Given the description of an element on the screen output the (x, y) to click on. 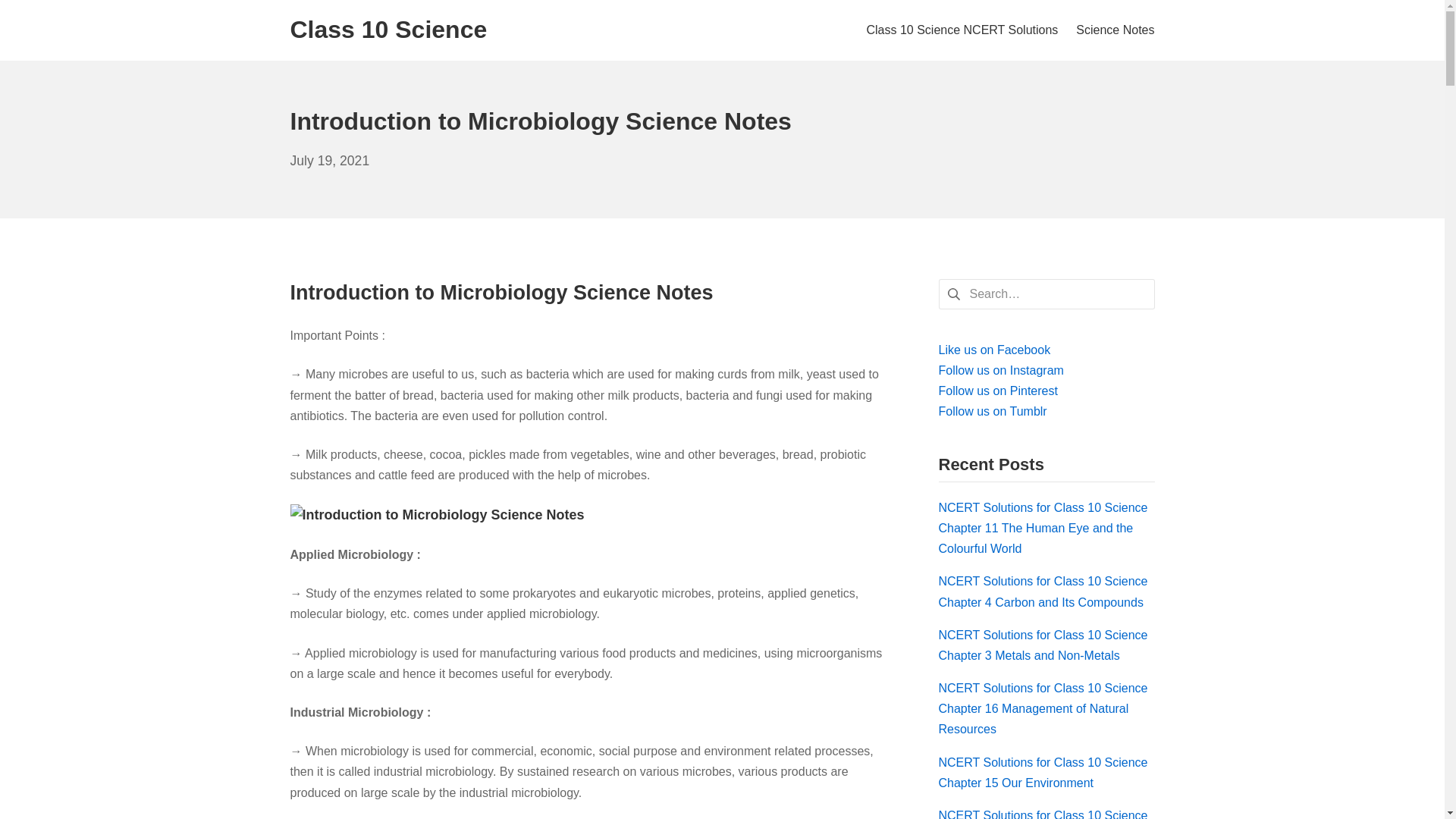
Follow us on Tumblr (992, 410)
Search (35, 15)
Class 10 Science (387, 29)
Follow us on Pinterest (998, 390)
Science Notes (329, 160)
Like us on Facebook (1114, 29)
Class 10 Science NCERT Solutions (995, 349)
Follow us on Instagram (962, 29)
